Given the description of an element on the screen output the (x, y) to click on. 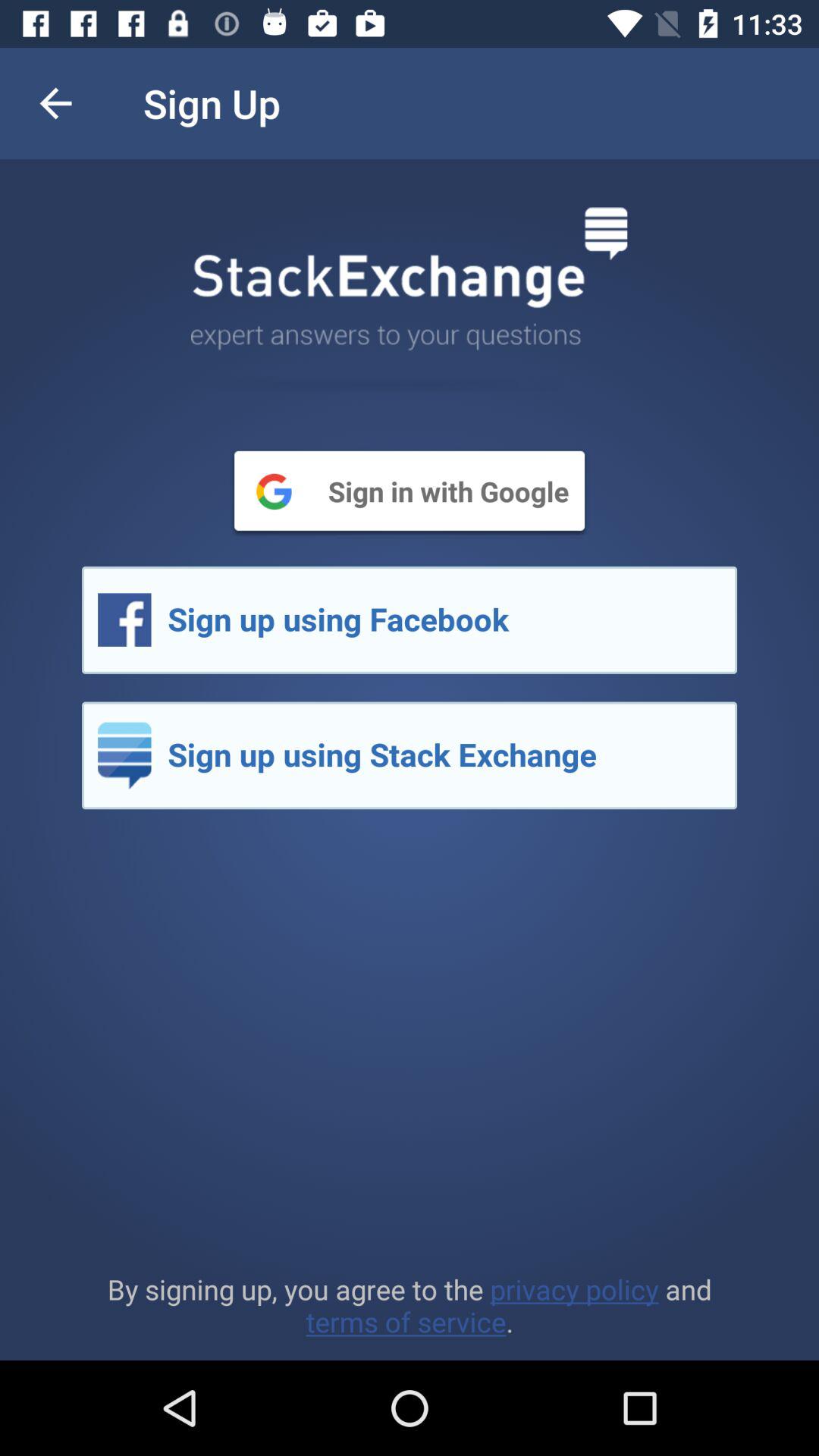
facebook (409, 619)
